Given the description of an element on the screen output the (x, y) to click on. 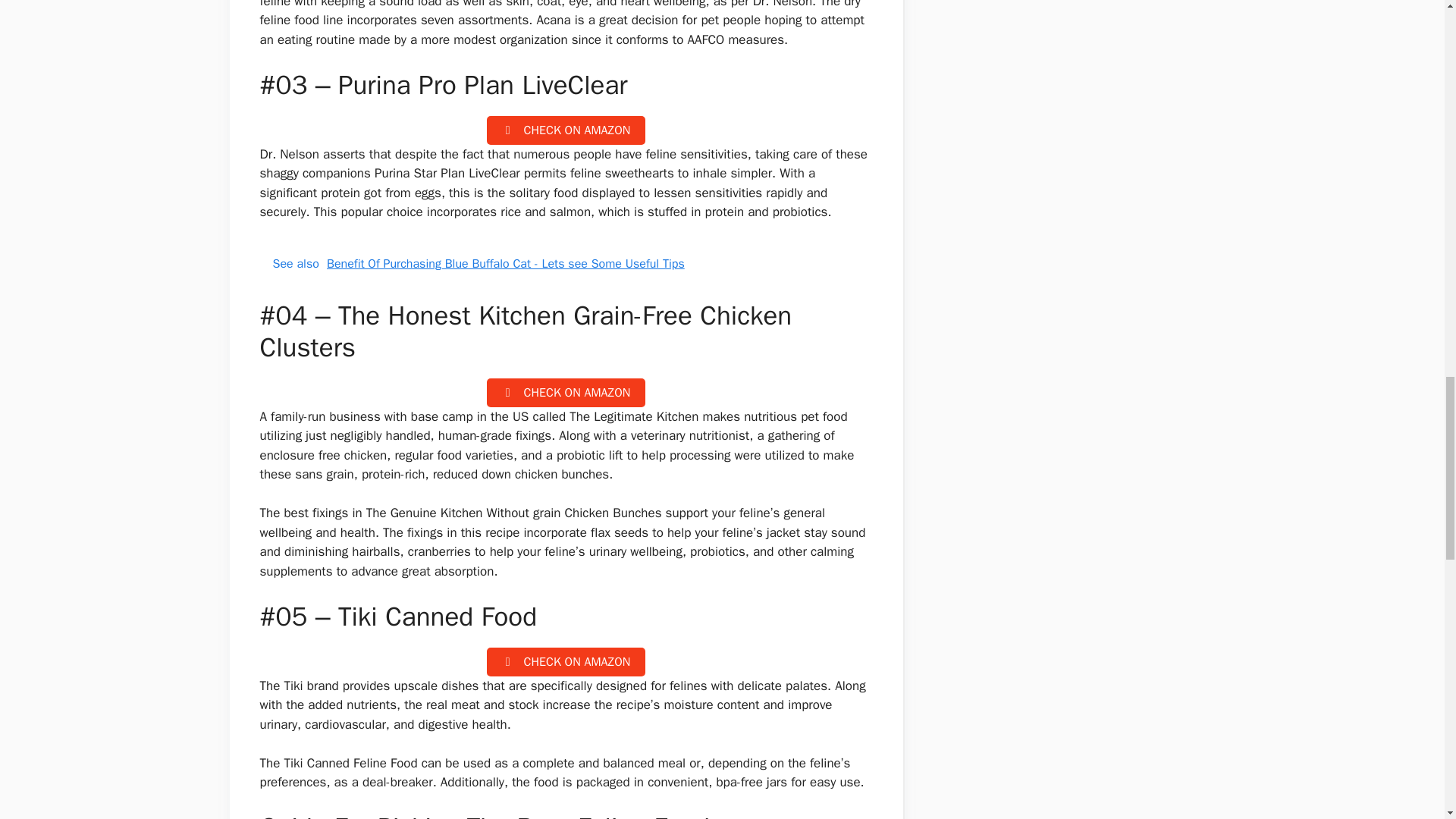
CHECK ON AMAZON (565, 391)
CHECK ON AMAZON (565, 129)
